Given the description of an element on the screen output the (x, y) to click on. 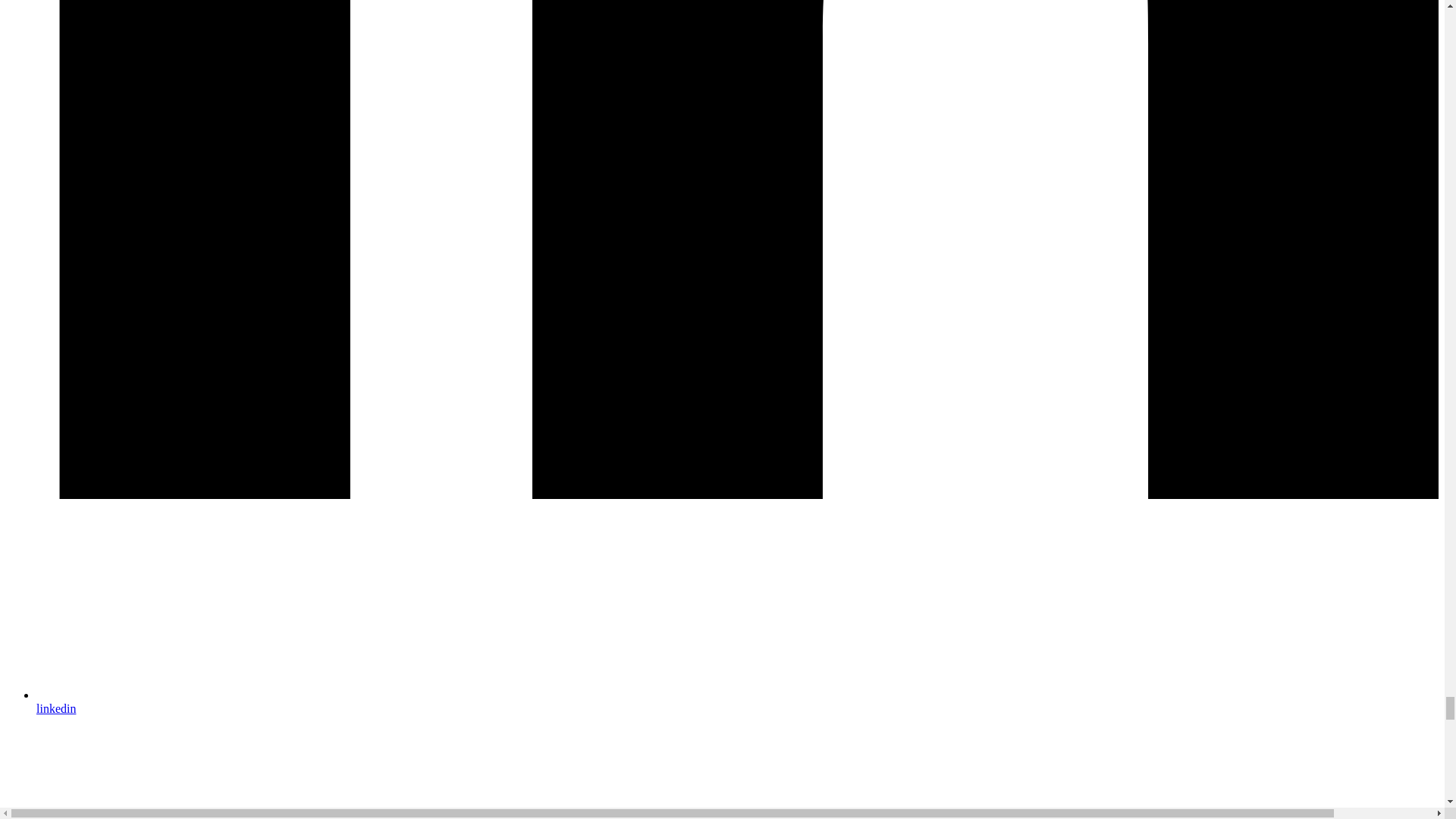
linkedin (737, 701)
